Given the description of an element on the screen output the (x, y) to click on. 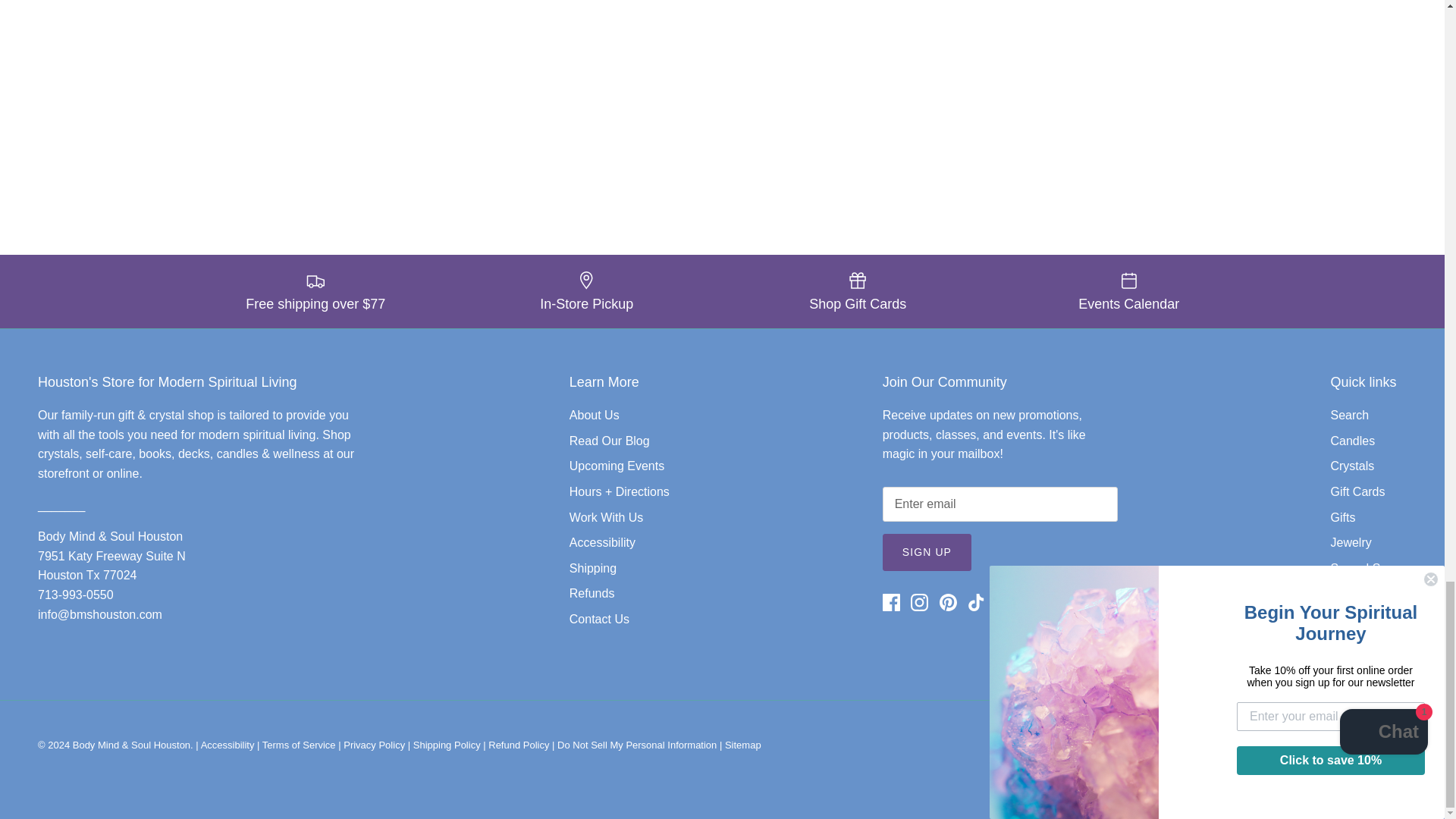
American Express (1015, 747)
Instagram (919, 601)
Pinterest (947, 601)
Diners Club (1090, 747)
Facebook (890, 601)
Apple Pay (1053, 747)
